Given the description of an element on the screen output the (x, y) to click on. 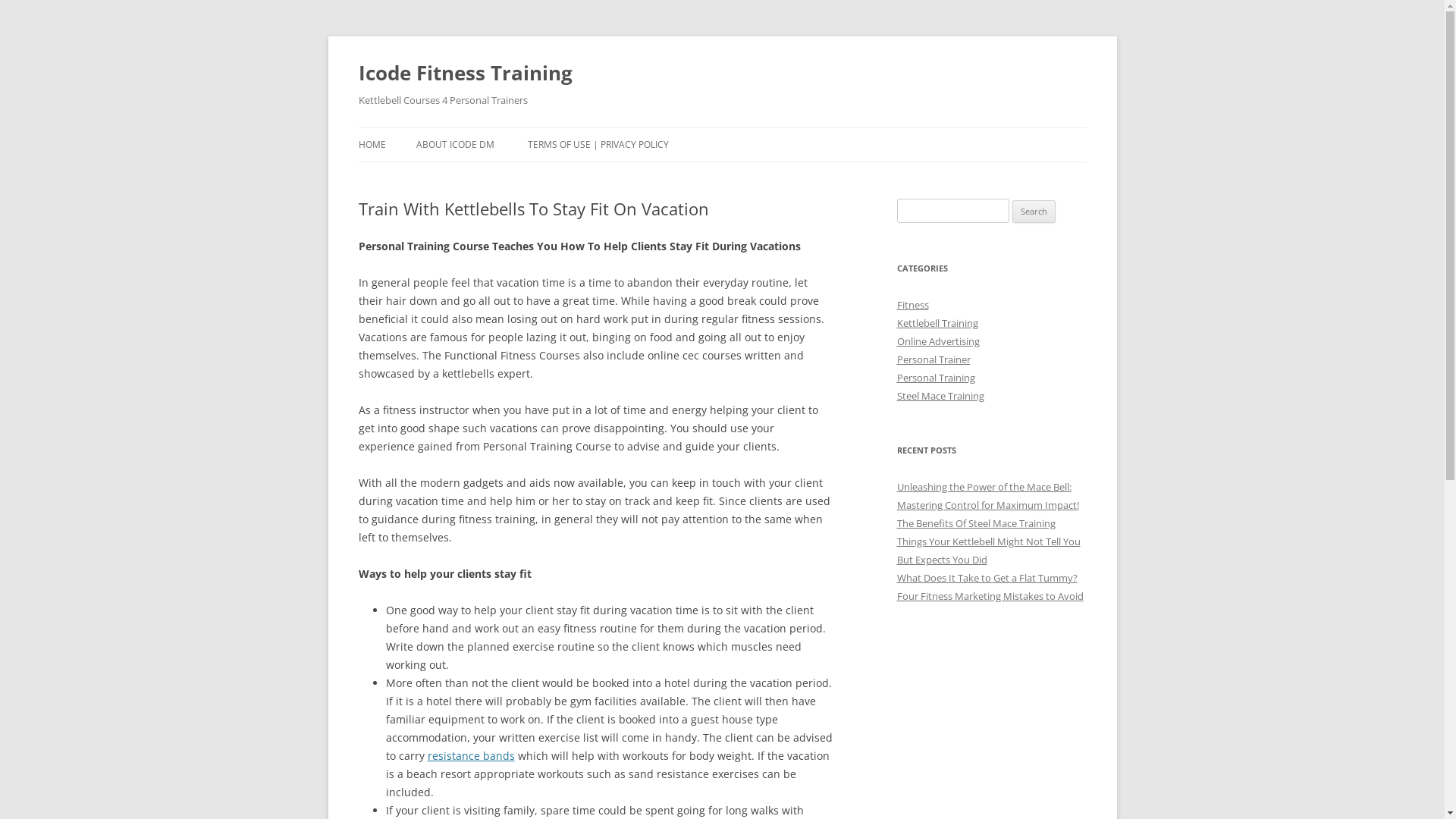
The Benefits Of Steel Mace Training Element type: text (975, 523)
Fitness Element type: text (912, 304)
TERMS OF USE | PRIVACY POLICY Element type: text (597, 144)
HOME Element type: text (371, 144)
Kettlebell Training Element type: text (936, 322)
Icode Fitness Training Element type: text (464, 72)
Online Advertising Element type: text (937, 341)
Personal Trainer Element type: text (932, 359)
Skip to content Element type: text (721, 127)
ABOUT ICODE DM Element type: text (454, 144)
Personal Training Element type: text (935, 377)
resistance bands Element type: text (470, 755)
What Does It Take to Get a Flat Tummy? Element type: text (986, 577)
Four Fitness Marketing Mistakes to Avoid Element type: text (989, 595)
Search Element type: text (1033, 211)
Steel Mace Training Element type: text (939, 395)
